Given the description of an element on the screen output the (x, y) to click on. 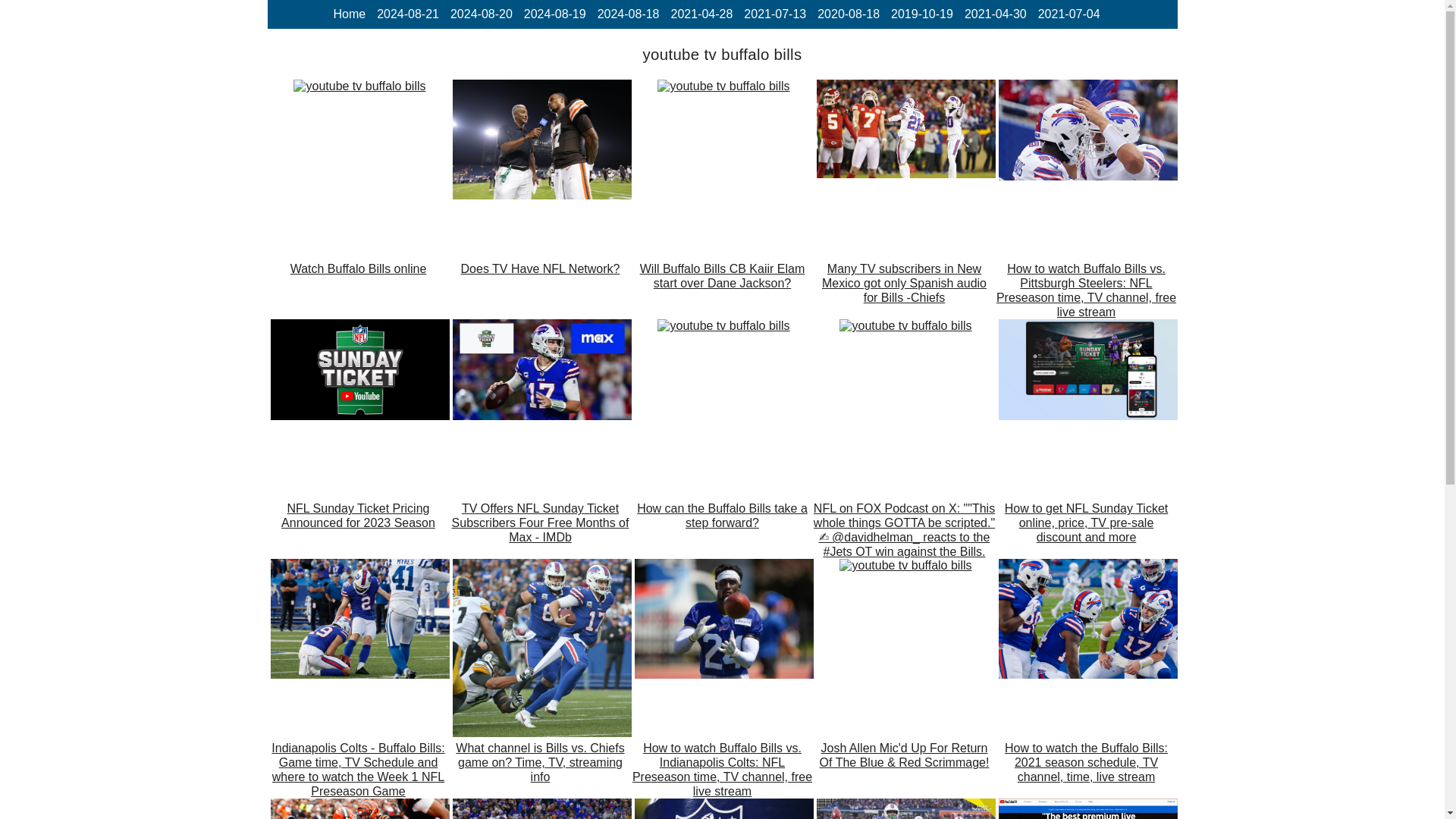
Will Buffalo Bills CB Kaiir Elam start over Dane Jackson? (722, 86)
youtube tv buffalo bills (358, 369)
Does TV Have NFL Network? (539, 290)
youtube tv buffalo bills (359, 86)
How can the Buffalo Bills take a step forward? (721, 529)
Watch Buffalo Bills online (358, 86)
NFL Sunday Ticket Pricing Announced for 2023 Season (358, 371)
2021-04-28 (700, 13)
2024-08-19 (555, 13)
2024-08-18 (627, 13)
